Given the description of an element on the screen output the (x, y) to click on. 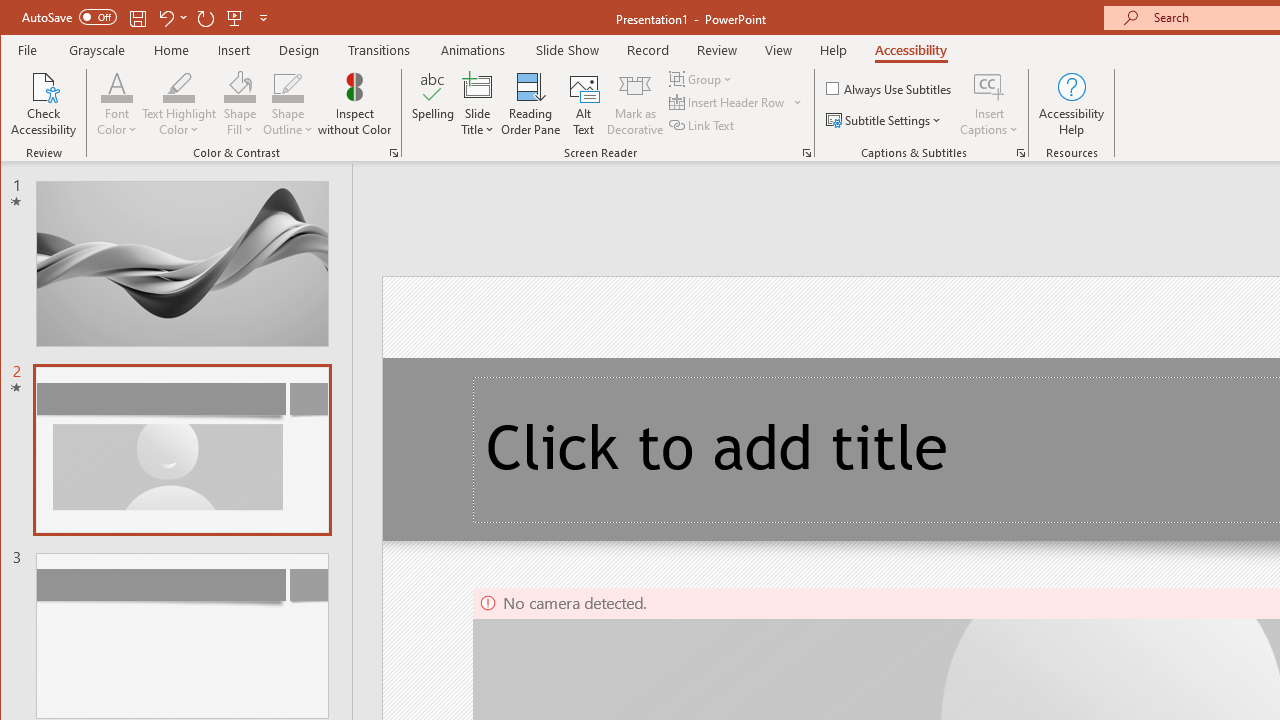
Color & Contrast (393, 152)
Check Accessibility (43, 104)
Group (701, 78)
Alt Text (584, 104)
